Given the description of an element on the screen output the (x, y) to click on. 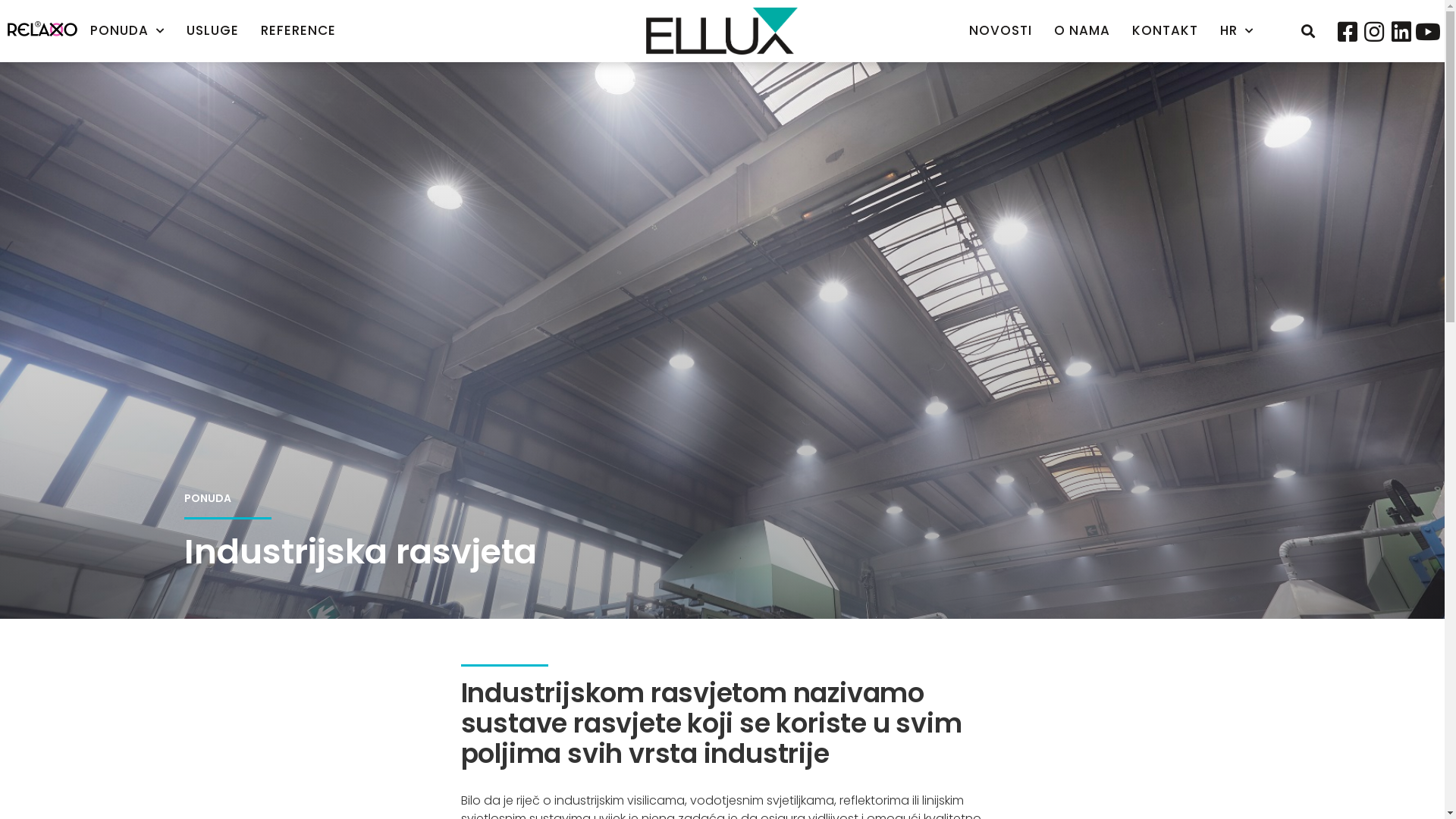
USLUGE Element type: text (212, 30)
KONTAKT Element type: text (1165, 30)
PONUDA Element type: text (127, 30)
HR Element type: text (1236, 30)
O NAMA Element type: text (1081, 30)
REFERENCE Element type: text (298, 30)
NOVOSTI Element type: text (1000, 30)
RELAXO Element type: text (42, 28)
